Given the description of an element on the screen output the (x, y) to click on. 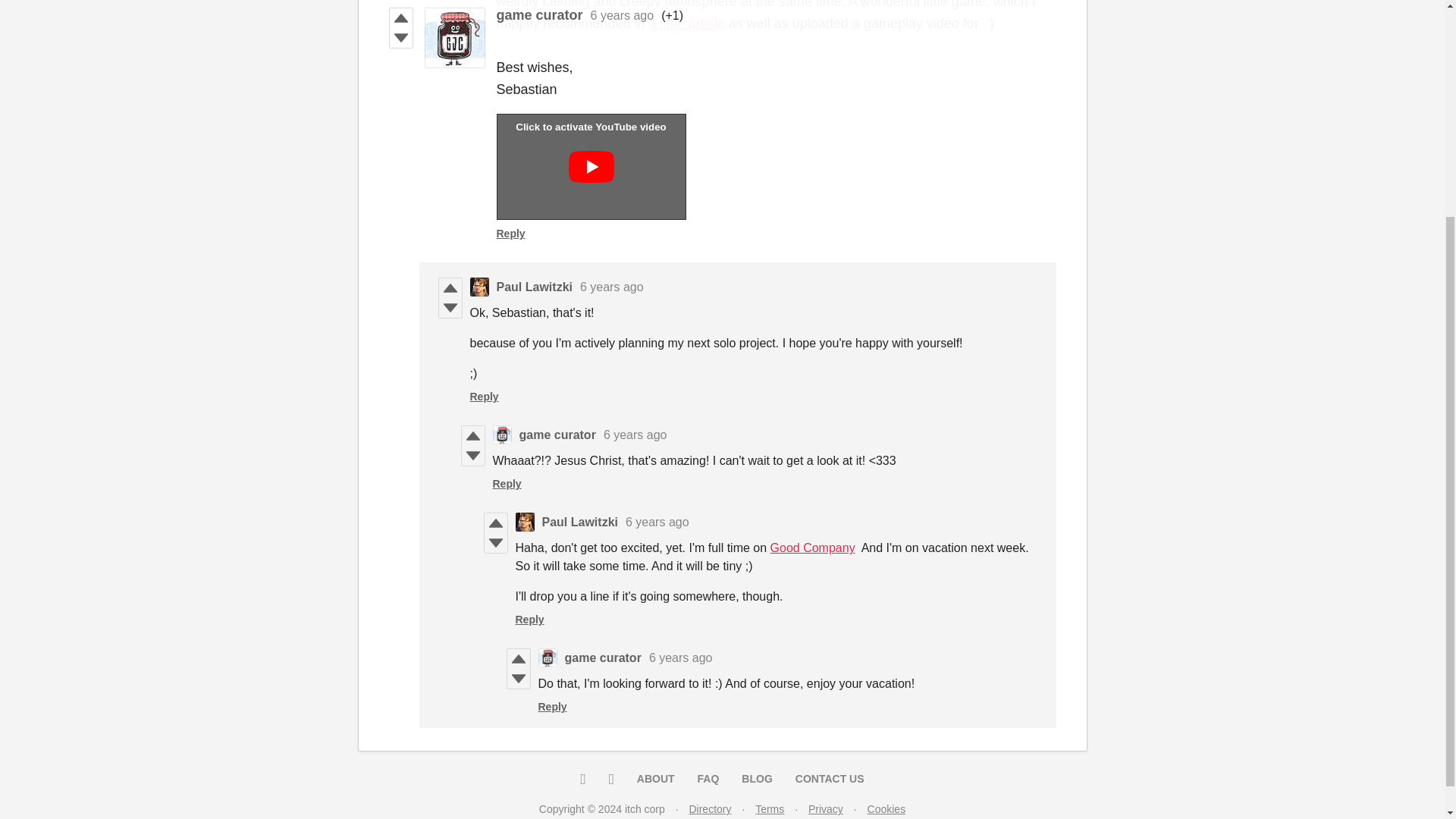
Vote down (517, 678)
2018-04-15 17:42:45 (681, 657)
Vote down (472, 455)
Paul Lawitzki (534, 286)
Vote down (494, 542)
6 years ago (611, 286)
Vote up (494, 523)
Vote up (449, 288)
a little article (687, 23)
Reply (484, 396)
Vote up (472, 435)
2018-04-15 16:37:41 (611, 286)
Vote up (517, 659)
Reply (510, 233)
2018-04-15 16:47:34 (635, 434)
